Given the description of an element on the screen output the (x, y) to click on. 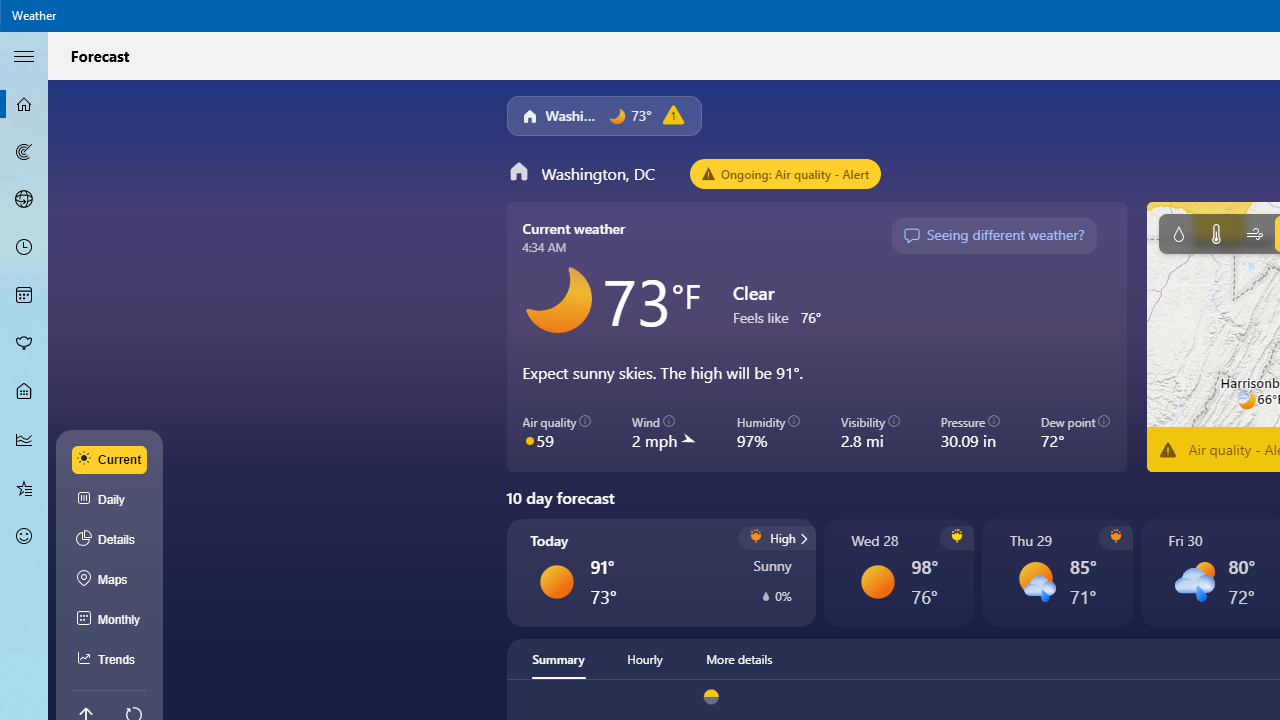
Historical Weather - Not Selected (24, 439)
Monthly Forecast - Not Selected (24, 295)
Life - Not Selected (24, 391)
Maps - Not Selected (24, 151)
Maps - Not Selected (24, 151)
Send Feedback - Not Selected (24, 535)
Send Feedback - Not Selected (24, 535)
Hourly Forecast - Not Selected (24, 247)
Favorites - Not Selected (24, 487)
Pollen - Not Selected (24, 343)
3D Maps - Not Selected (24, 199)
Favorites - Not Selected (24, 487)
3D Maps - Not Selected (24, 199)
Hourly Forecast - Not Selected (24, 247)
Life - Not Selected (24, 391)
